Given the description of an element on the screen output the (x, y) to click on. 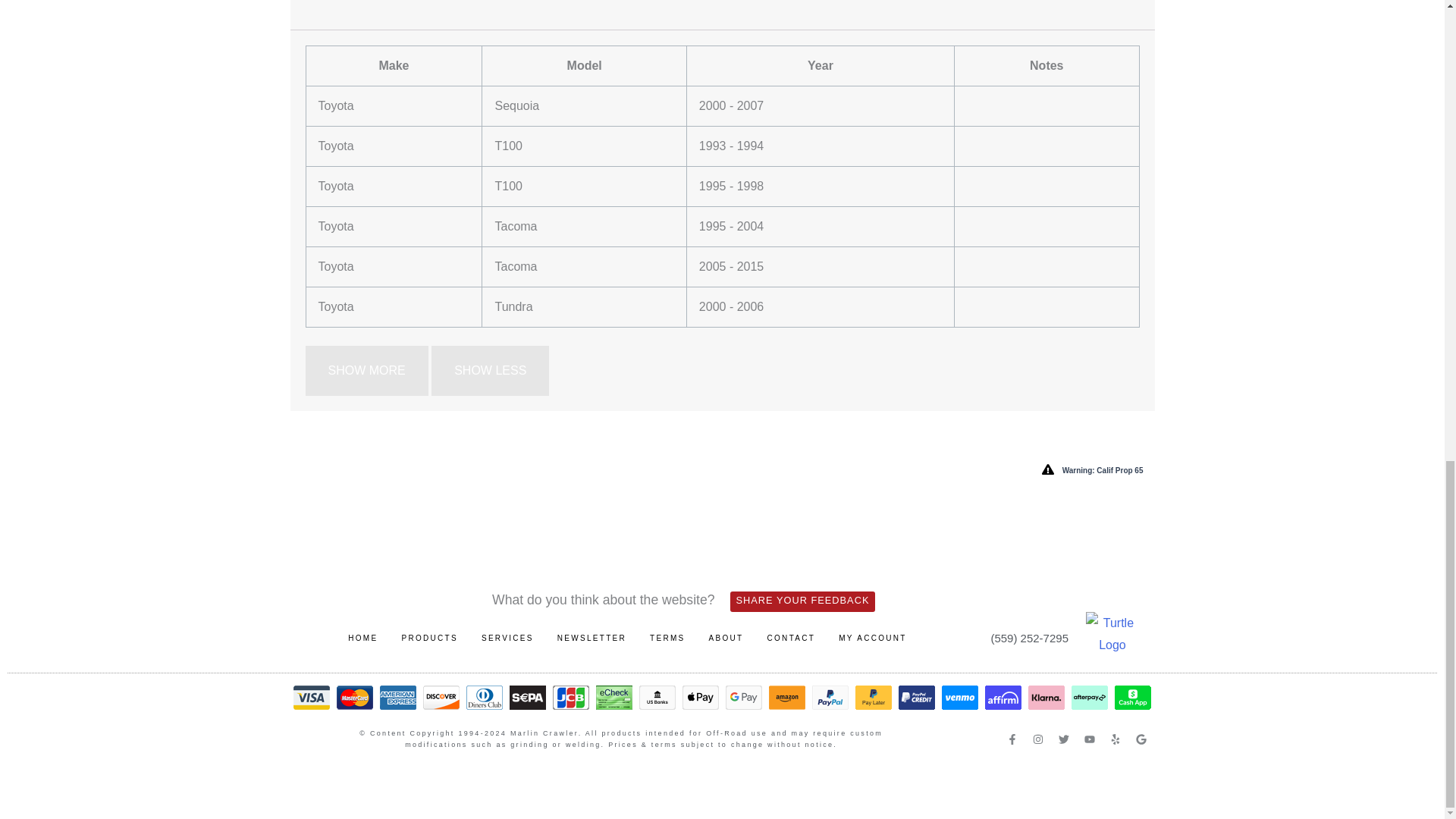
SHOW MORE (366, 370)
SHOW LESS (489, 370)
